Given the description of an element on the screen output the (x, y) to click on. 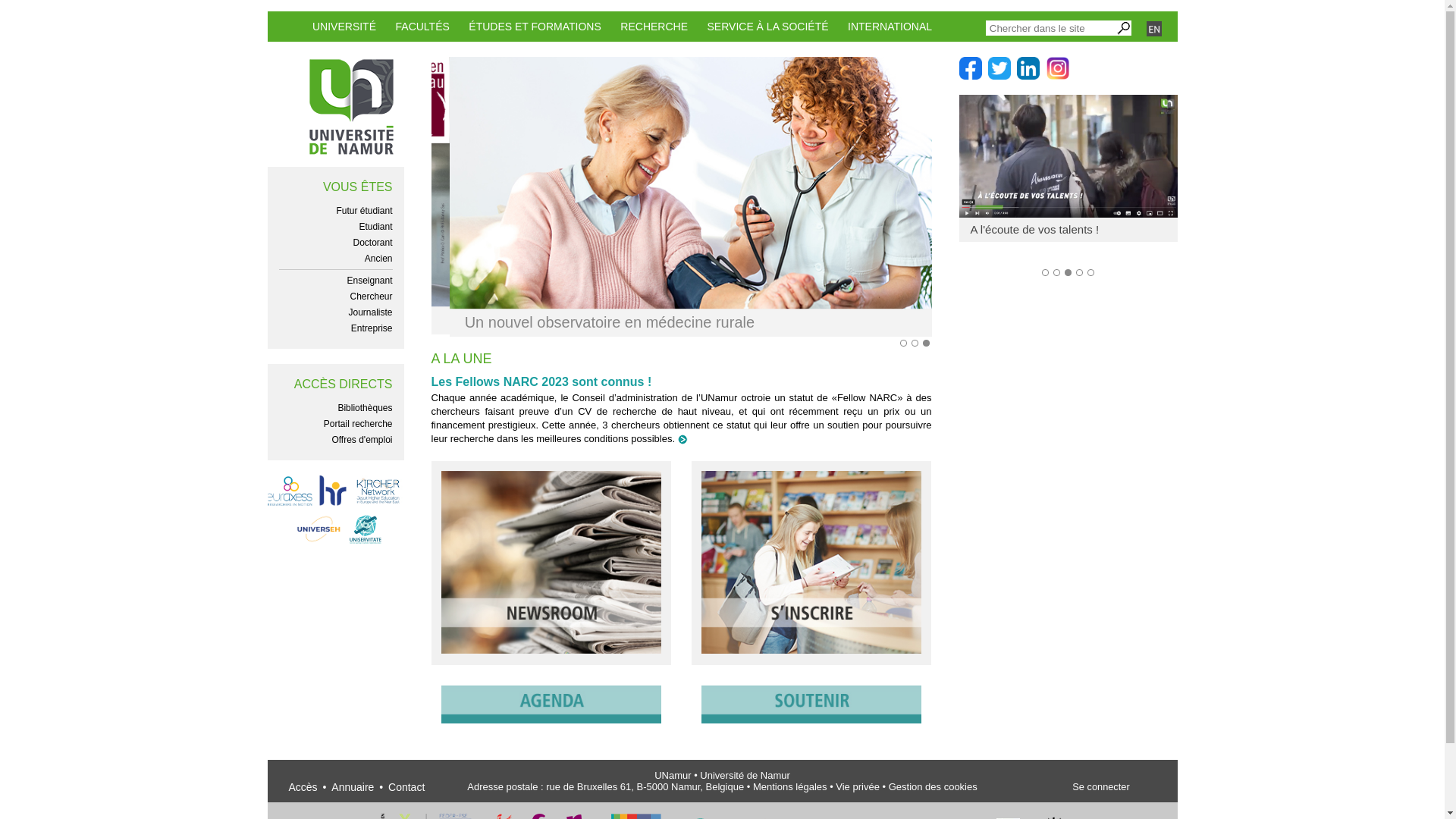
INTERNATIONAL Element type: text (889, 26)
Aller au contenu. Element type: text (299, 29)
Ancien Element type: text (378, 258)
Doctorant Element type: text (372, 242)
Les Fellows NARC 2023 sont connus ! Element type: text (540, 383)
Contact Element type: text (405, 787)
English version Element type: hover (1153, 28)
RECHERCHE Element type: text (653, 26)
Annuaire Element type: text (352, 787)
English version Element type: hover (1153, 30)
OK Element type: text (1123, 27)
University of Namur Element type: hover (351, 106)
Plus d'infos et inscriptions ici... Element type: text (680, 190)
Portail recherche Element type: text (357, 423)
Chercheur Element type: text (370, 296)
Entreprise Element type: text (371, 328)
Journaliste Element type: text (370, 312)
Gestion des cookies Element type: text (932, 786)
Offres d'emploi Element type: text (361, 439)
Newsroom Element type: hover (551, 647)
Agenda Element type: hover (551, 717)
Se connecter Element type: text (1100, 786)
Newsroom Element type: hover (682, 438)
Soutenir Element type: hover (811, 717)
Etudiant Element type: text (375, 226)
Enseignant Element type: text (369, 280)
